Given the description of an element on the screen output the (x, y) to click on. 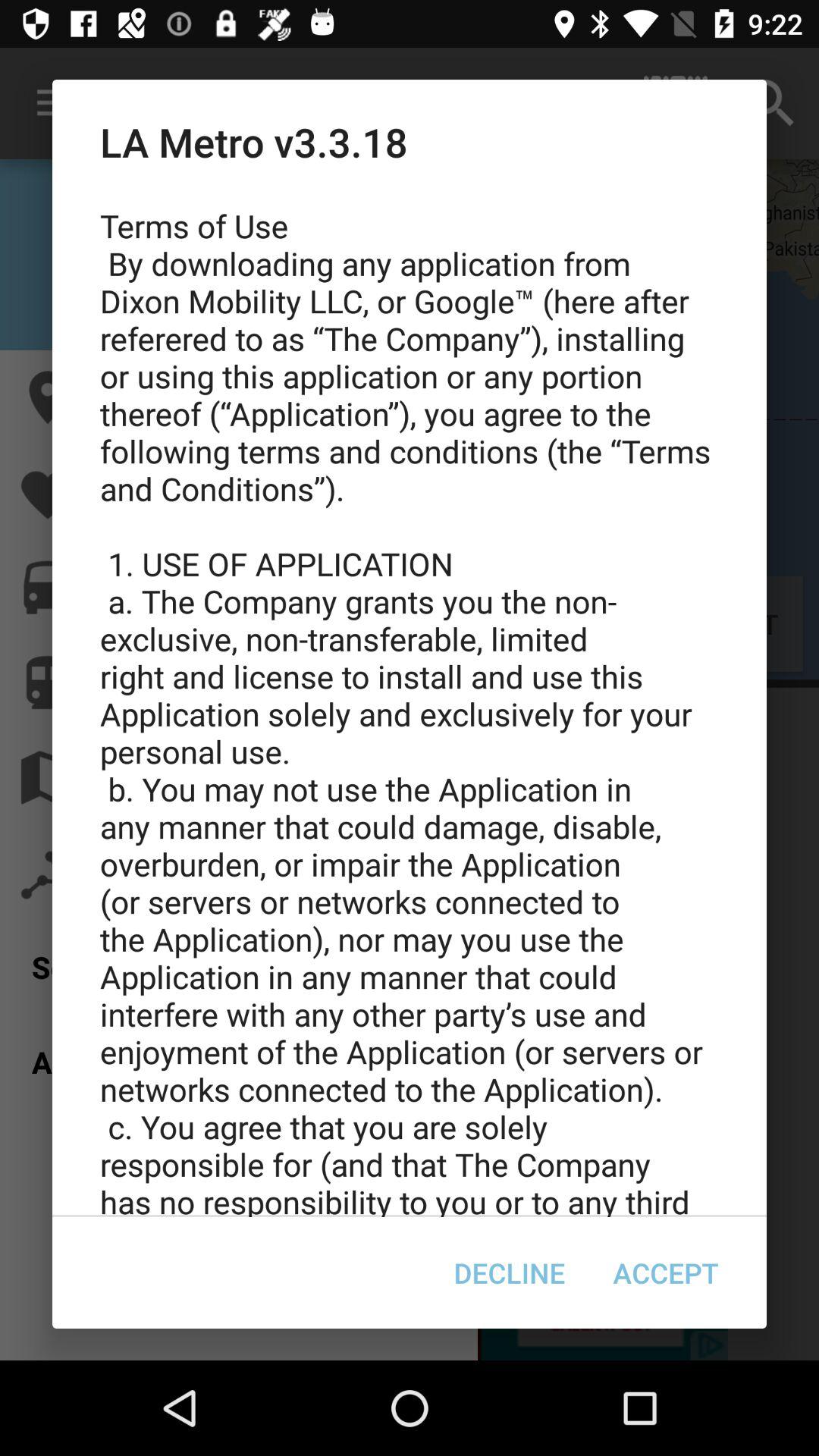
turn off item next to decline icon (665, 1272)
